Given the description of an element on the screen output the (x, y) to click on. 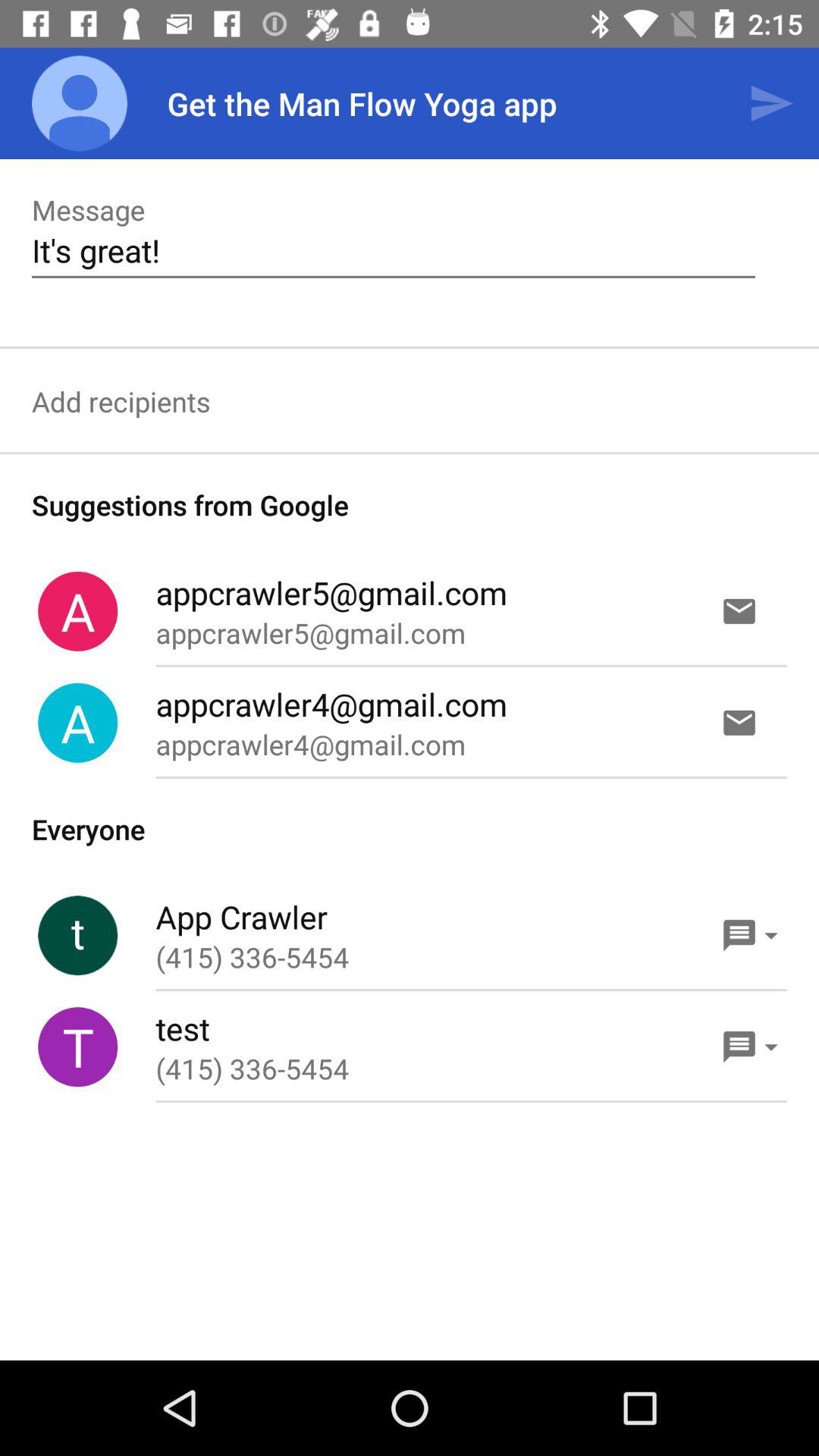
choose item below the message icon (393, 249)
